Given the description of an element on the screen output the (x, y) to click on. 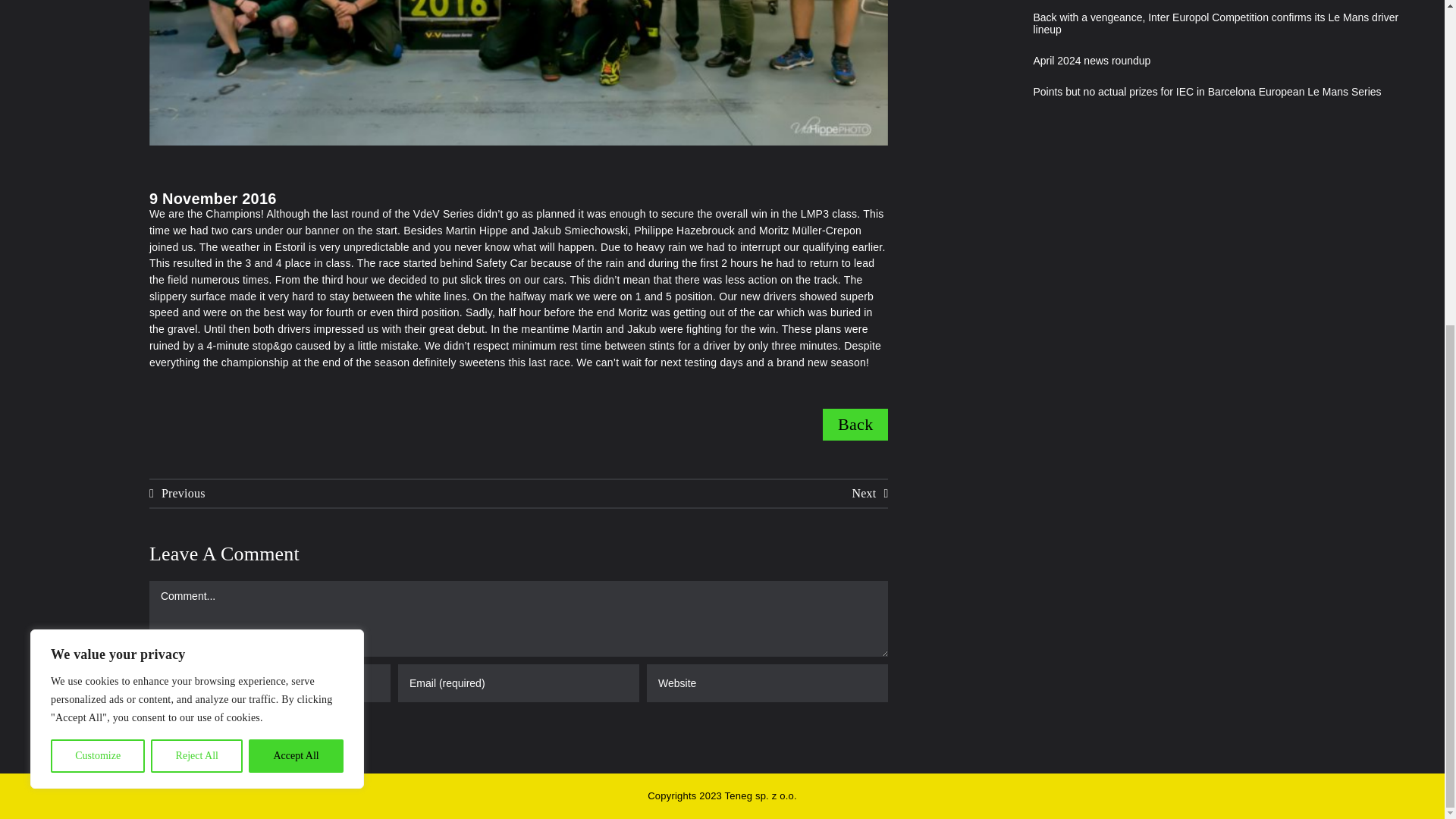
Customize (97, 222)
Previous (177, 493)
Post Comment (222, 736)
Reject All (197, 222)
Next (869, 493)
Back (855, 424)
Accept All (295, 222)
Post Comment (222, 736)
